Given the description of an element on the screen output the (x, y) to click on. 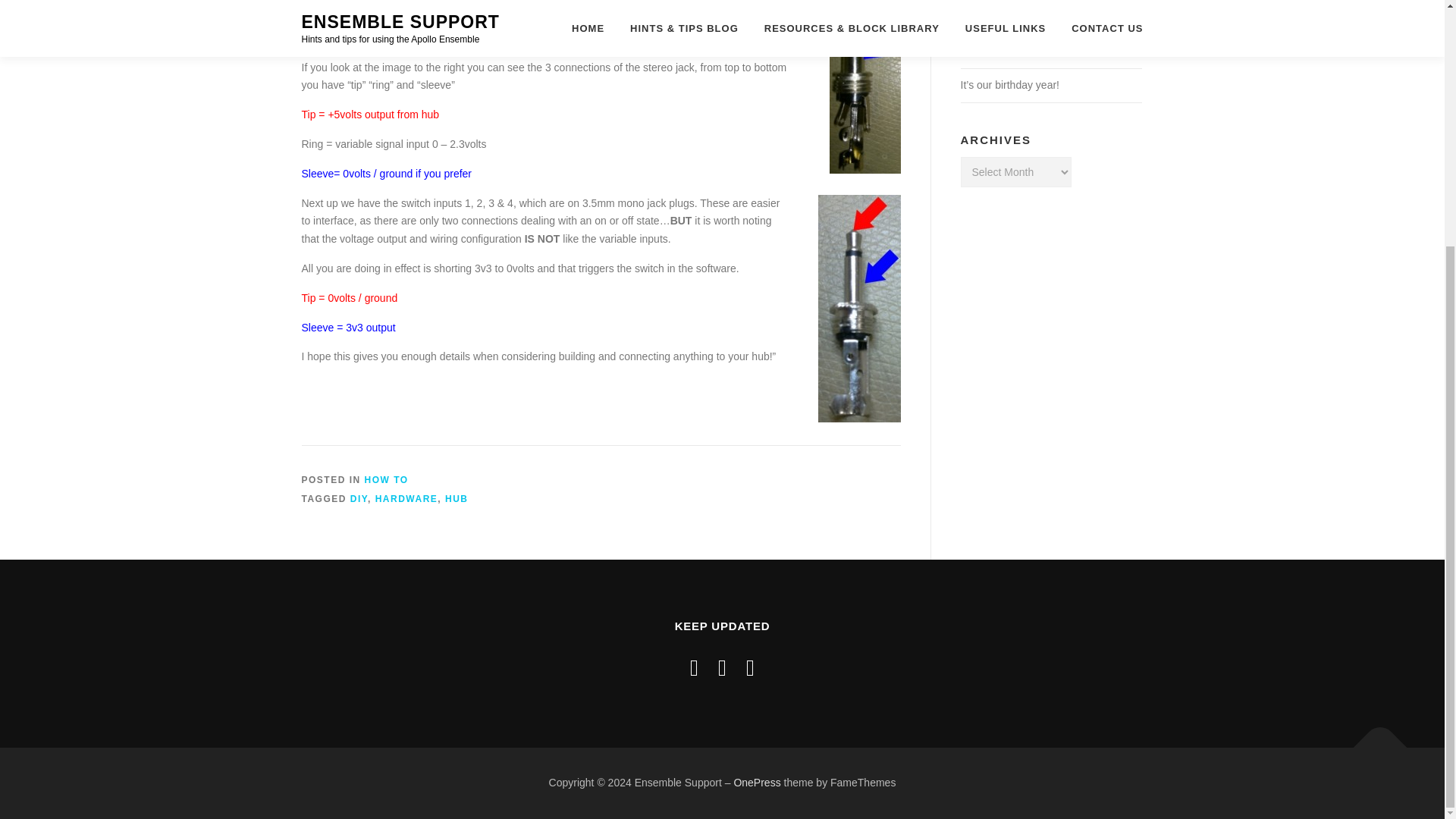
Back To Top (1372, 739)
electronics2000 (687, 37)
HUB (456, 498)
HOW TO (387, 480)
OnePress (756, 782)
Xbox One problems resolved in latest update (1048, 42)
HARDWARE (406, 498)
DIY (359, 498)
